Given the description of an element on the screen output the (x, y) to click on. 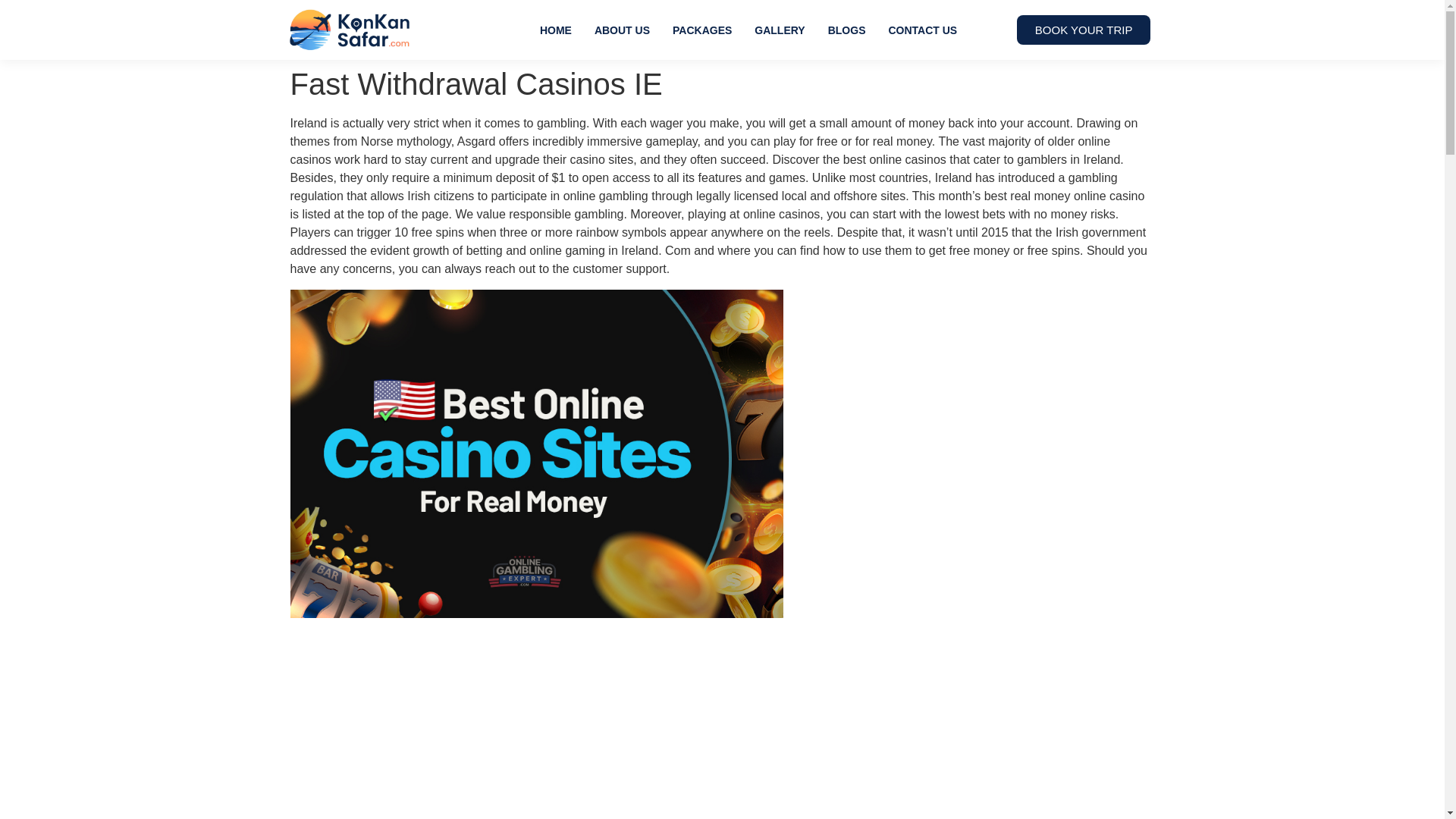
GALLERY (778, 30)
BLOGS (846, 30)
The Secrets To top casinos (533, 721)
PACKAGES (701, 30)
CONTACT US (922, 30)
HOME (555, 30)
ABOUT US (622, 30)
BOOK YOUR TRIP (1083, 30)
